Given the description of an element on the screen output the (x, y) to click on. 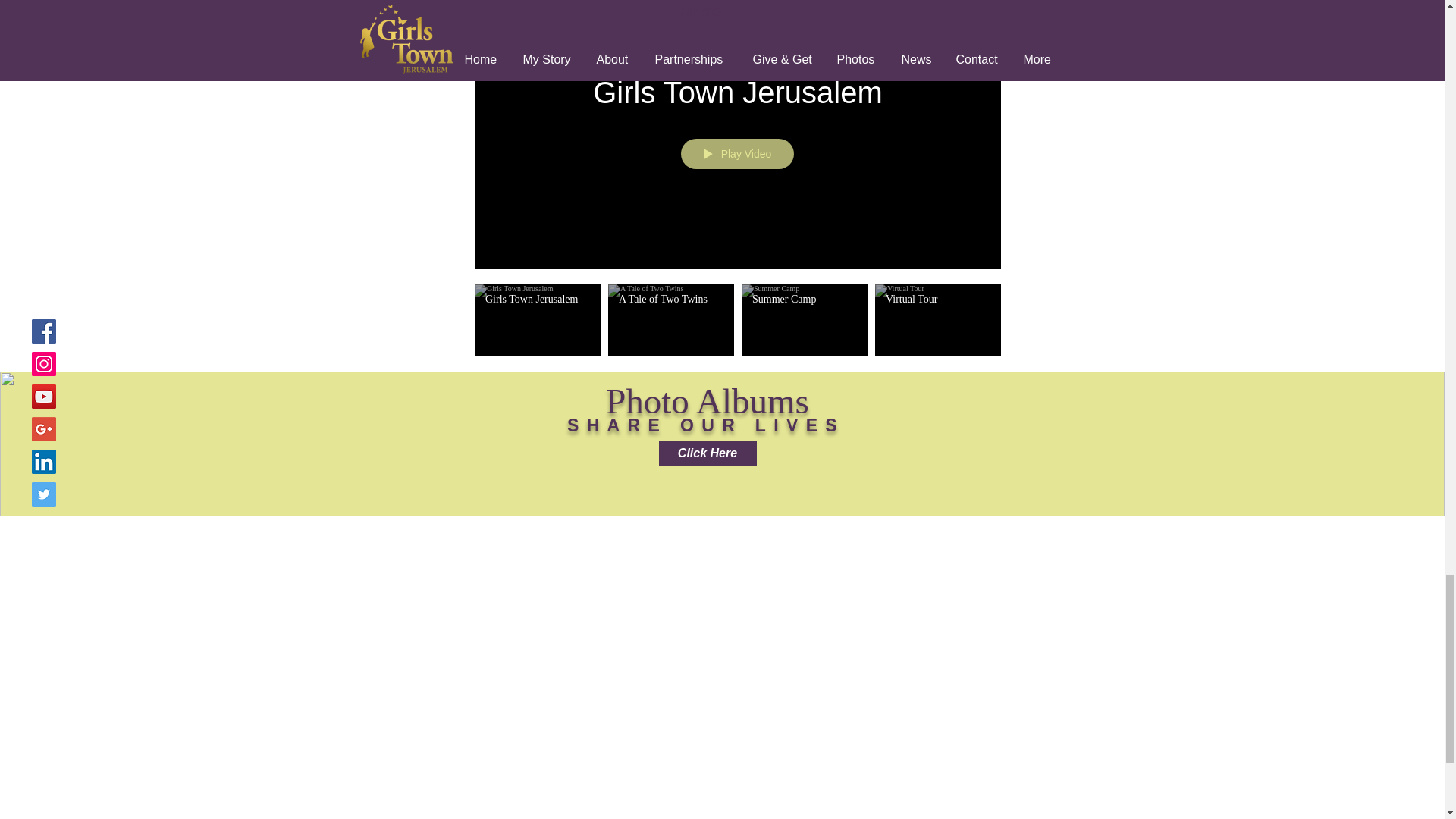
Girls Town Jerusalem (738, 92)
A Tale of Two Twins (670, 298)
Play Video (736, 153)
Virtual Tour (937, 298)
Summer Camp (804, 298)
Girls Town Jerusalem (536, 298)
